Given the description of an element on the screen output the (x, y) to click on. 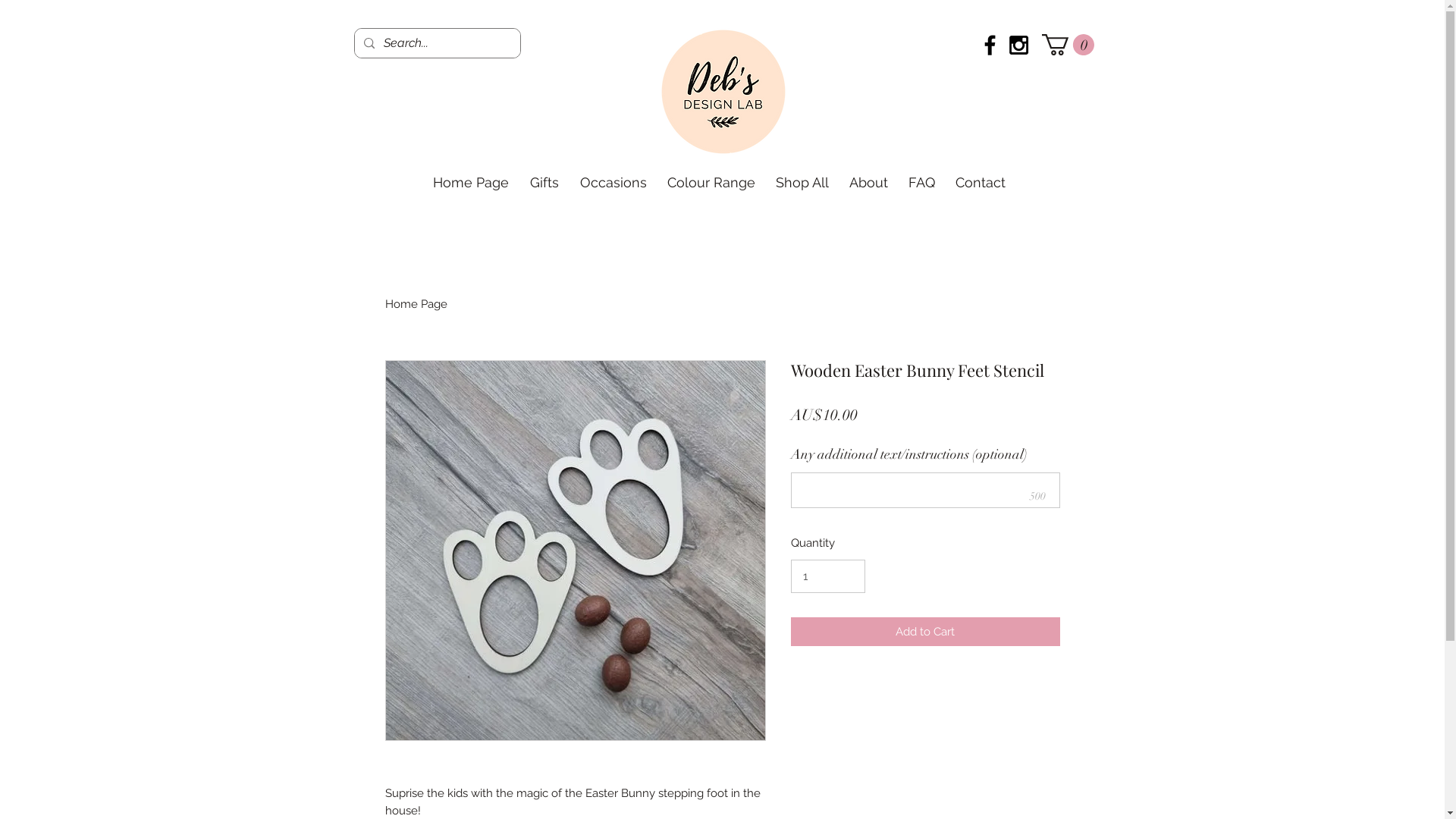
0 Element type: text (1067, 44)
Contact Element type: text (979, 182)
Shop All Element type: text (802, 182)
Home Page Element type: text (416, 303)
FAQ Element type: text (920, 182)
Home Page Element type: text (469, 182)
About Element type: text (867, 182)
Colour Range Element type: text (710, 182)
Add to Cart Element type: text (924, 631)
